Given the description of an element on the screen output the (x, y) to click on. 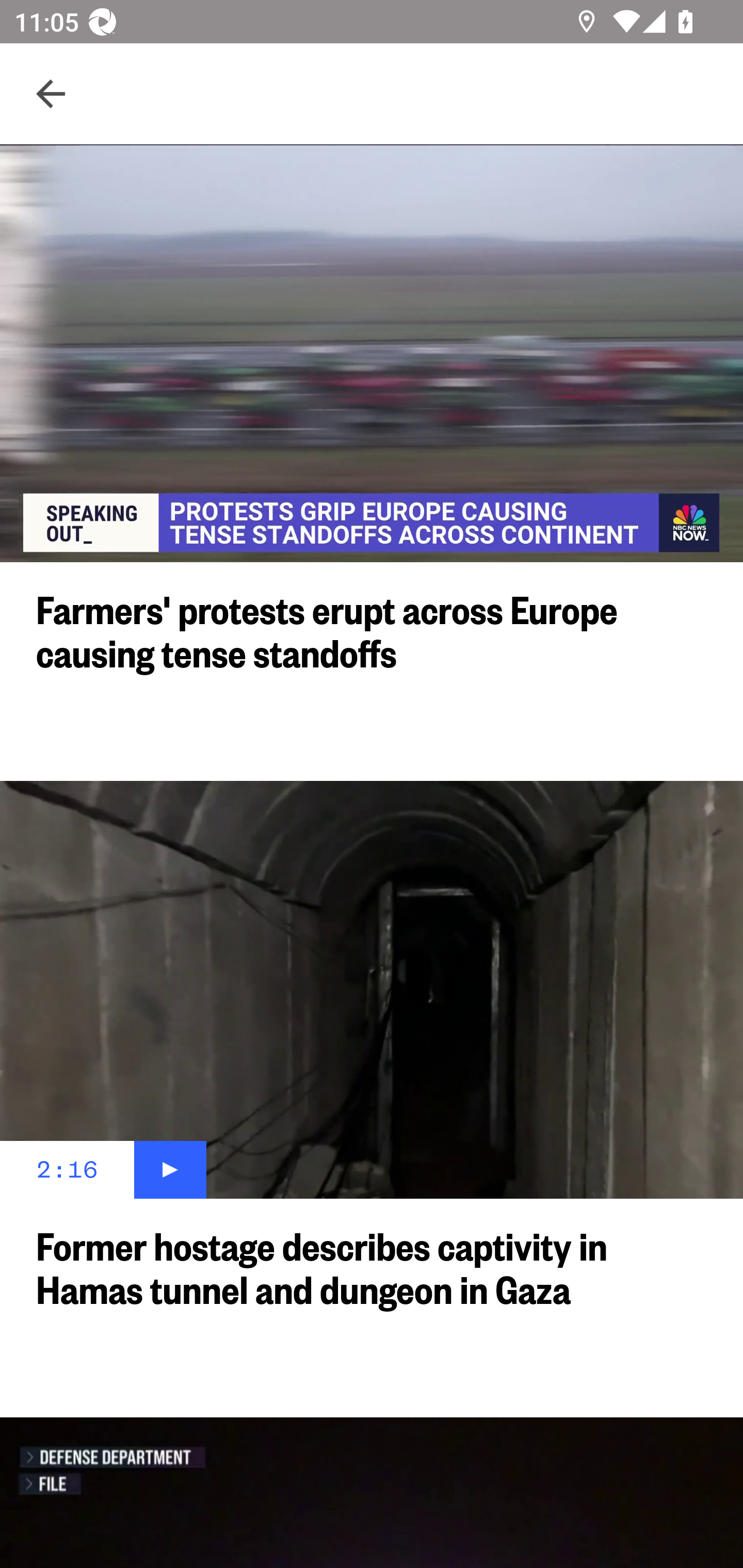
Navigate up (50, 93)
